Given the description of an element on the screen output the (x, y) to click on. 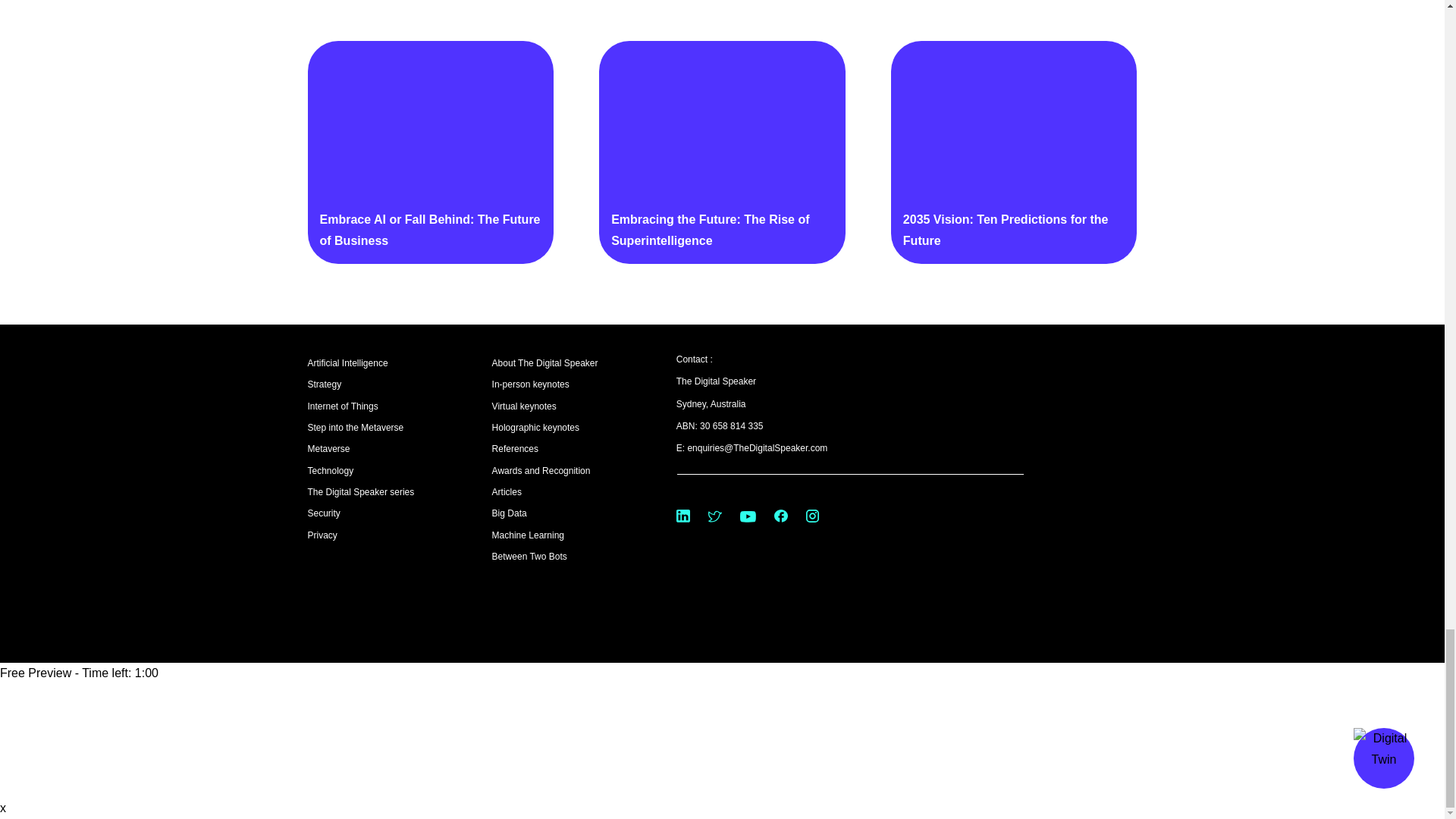
Youtube (747, 516)
Twitter (714, 516)
Linkedin (683, 515)
Instagram (812, 515)
Facebook (780, 515)
